Given the description of an element on the screen output the (x, y) to click on. 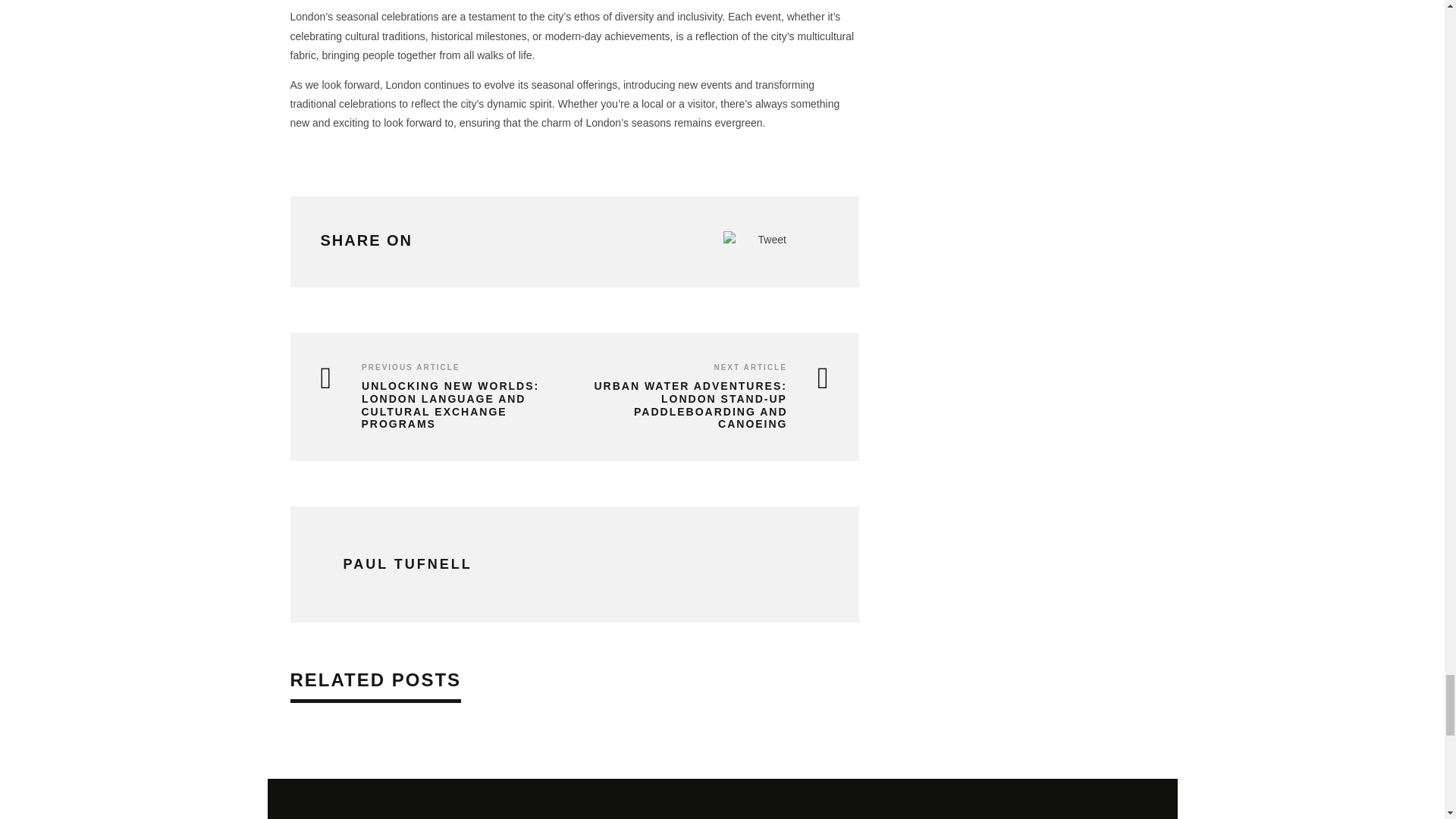
NEXT ARTICLE (749, 367)
PREVIOUS ARTICLE (410, 367)
Tweet (772, 239)
